Given the description of an element on the screen output the (x, y) to click on. 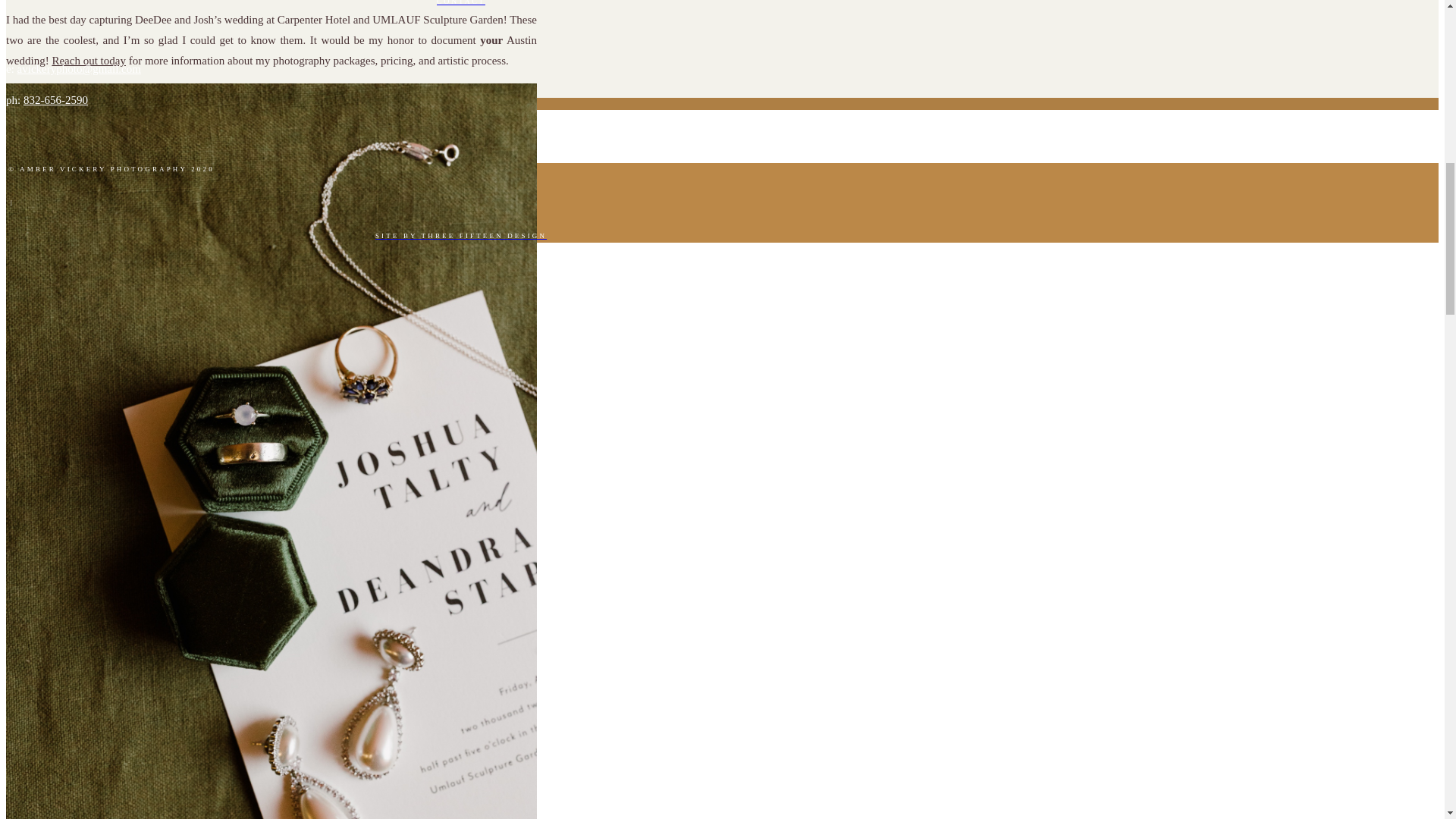
832-656-2590 (55, 100)
SITE BY THREE FIFTEEN DESIGN (460, 235)
Reach out today (87, 60)
